Given the description of an element on the screen output the (x, y) to click on. 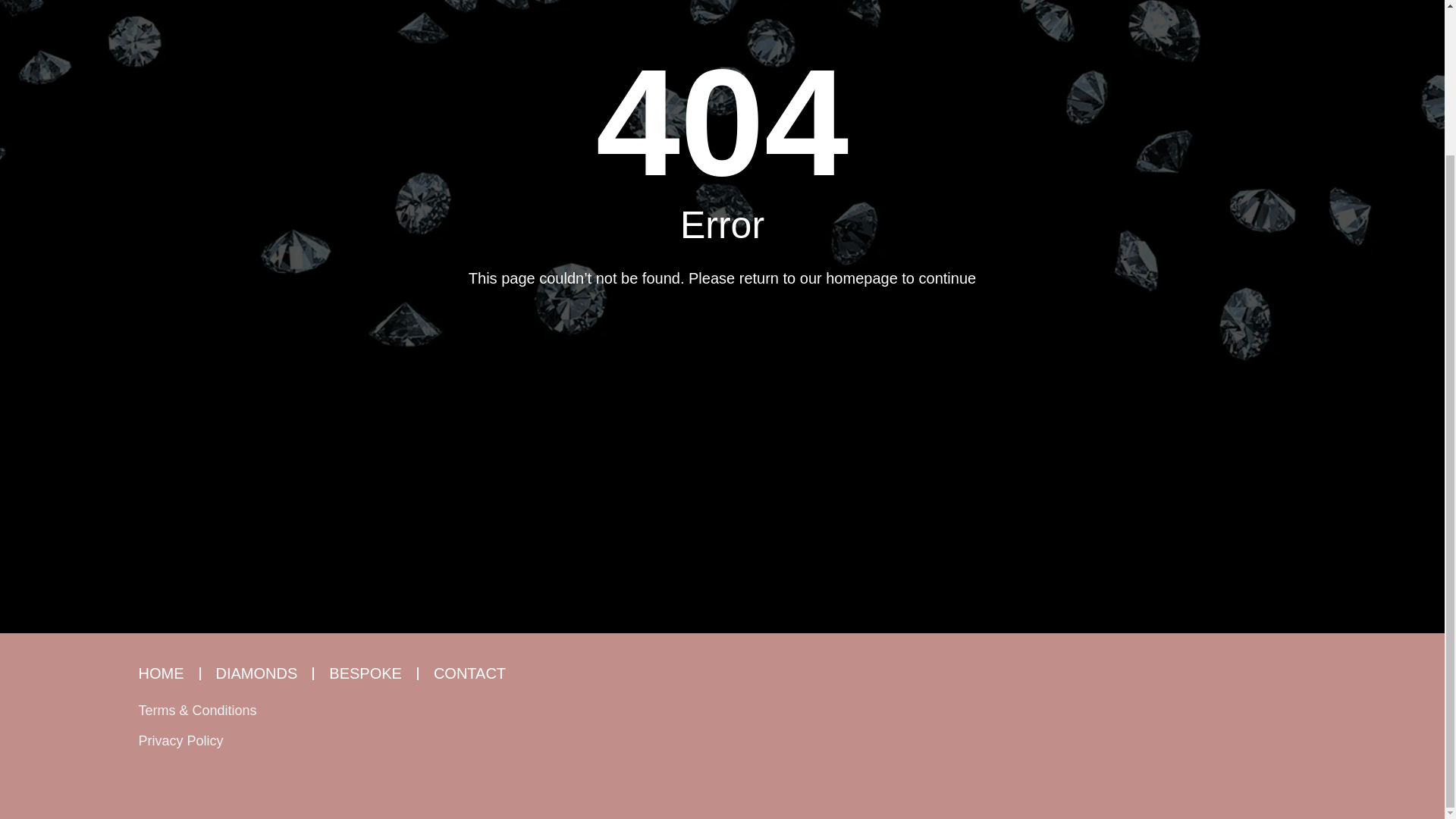
Privacy Policy (180, 740)
DIAMONDS (256, 673)
CONTACT (469, 673)
BESPOKE (365, 673)
HOME (160, 673)
